Given the description of an element on the screen output the (x, y) to click on. 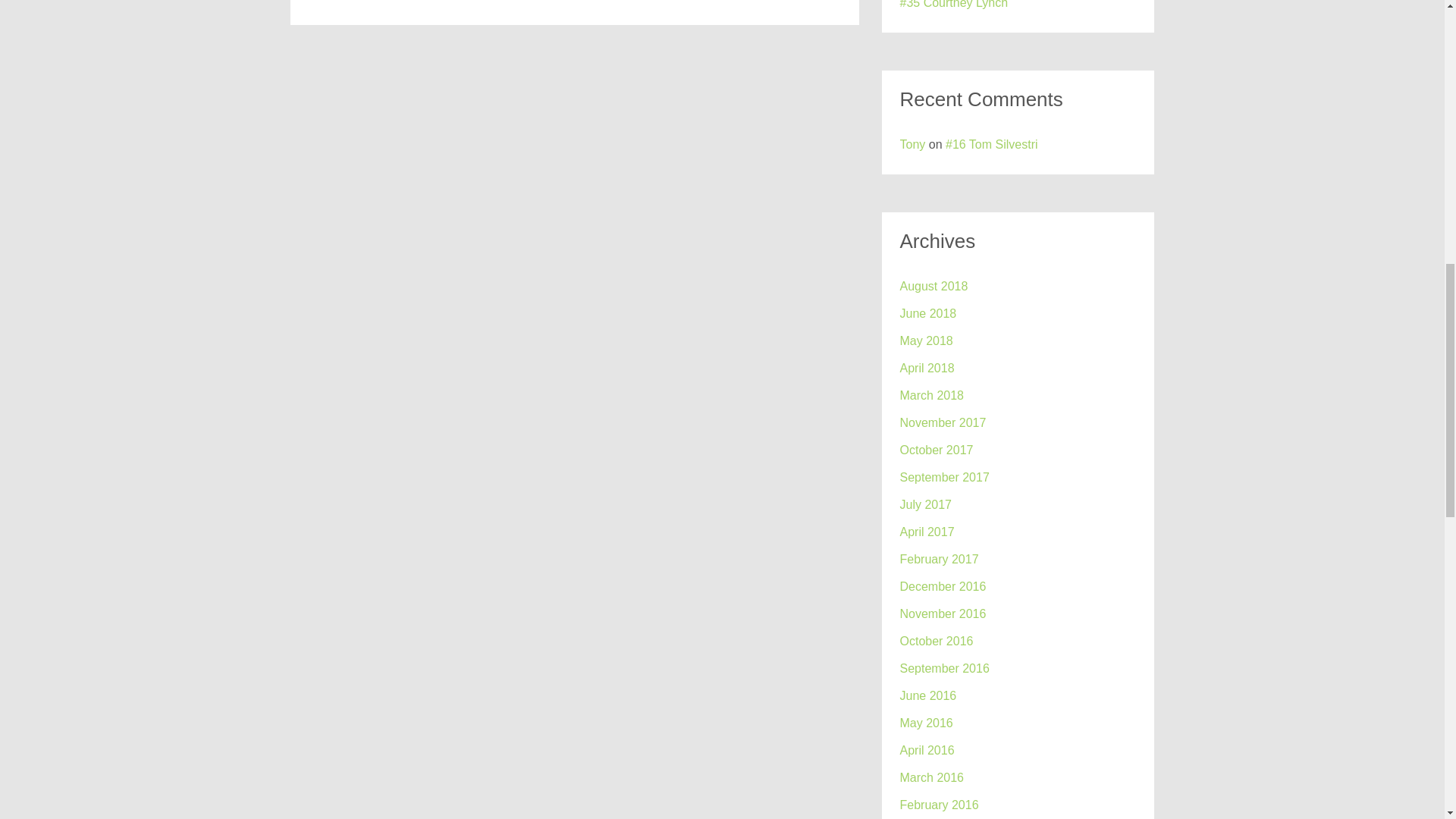
April 2017 (926, 531)
July 2017 (925, 504)
April 2018 (926, 367)
May 2018 (925, 340)
September 2017 (943, 477)
October 2017 (935, 449)
Tony (911, 144)
February 2017 (938, 559)
June 2018 (927, 313)
November 2017 (942, 422)
